Given the description of an element on the screen output the (x, y) to click on. 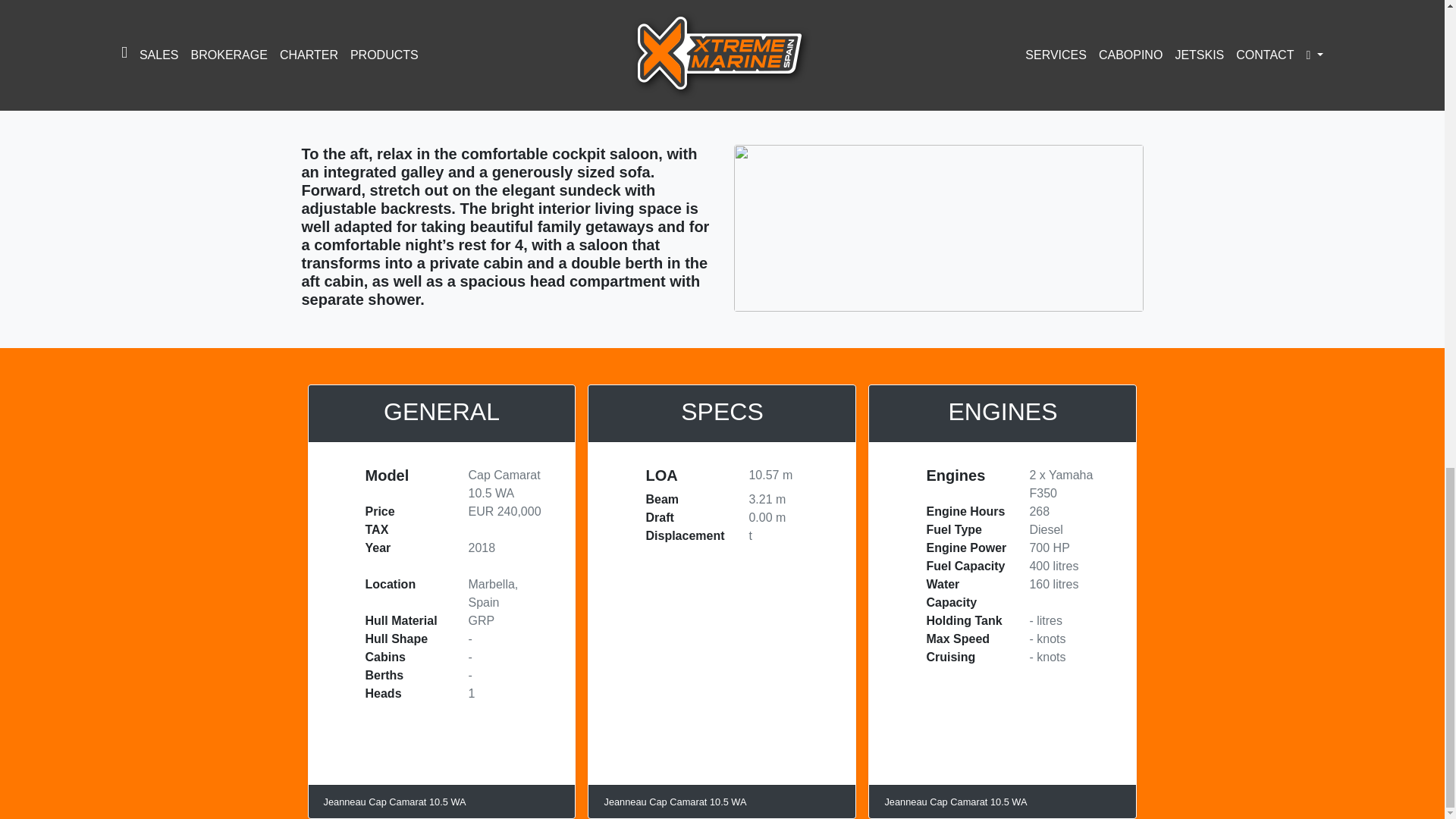
CALL (321, 41)
EMAIL (367, 41)
SUBMIT ENQUIRY (445, 41)
SUBMIT ENQUIRY (445, 41)
